Given the description of an element on the screen output the (x, y) to click on. 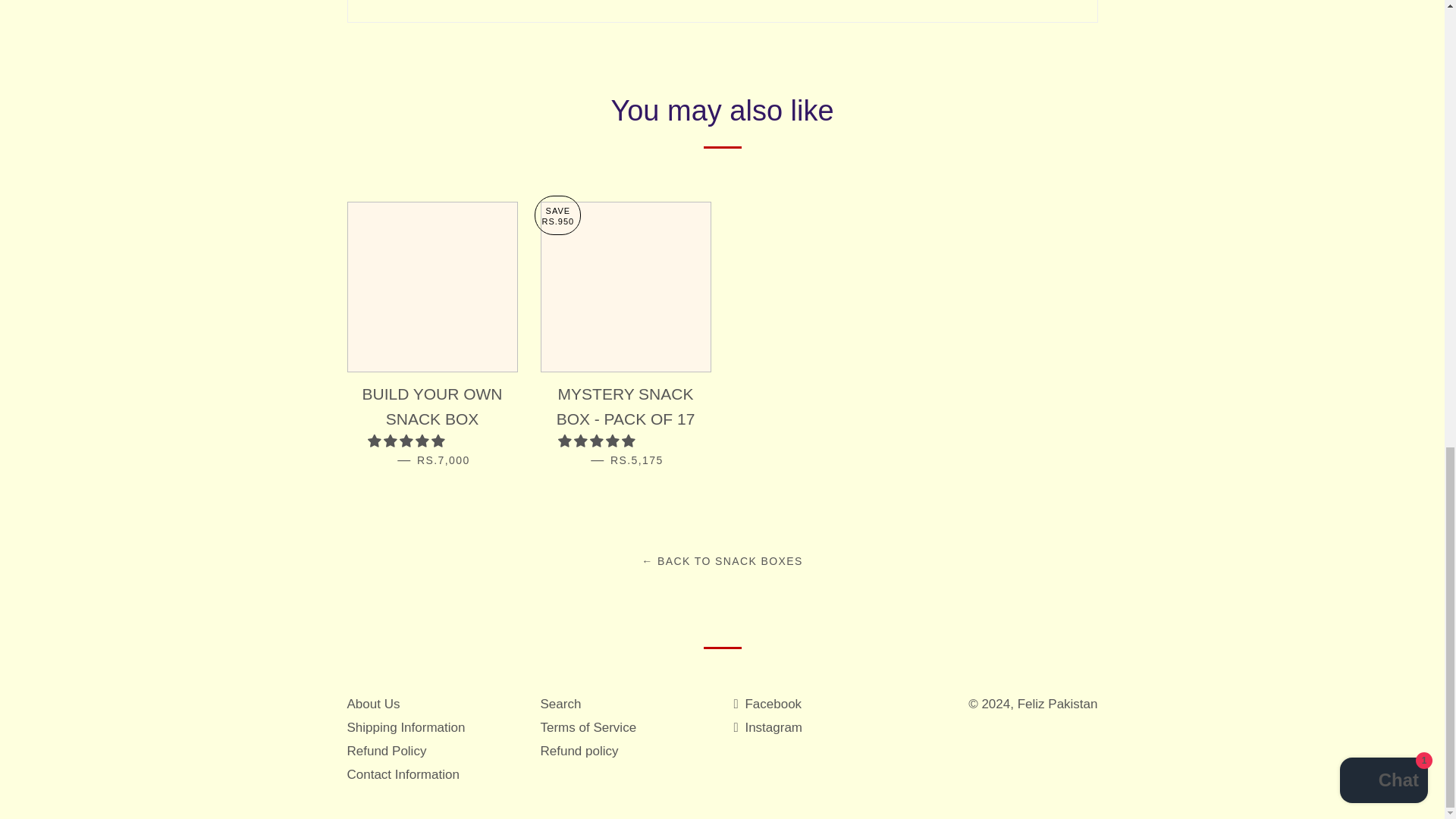
Refund Policy (386, 750)
Contact Information (403, 774)
Feliz Pakistan on Instagram (768, 727)
Shipping Information (406, 727)
Feliz Pakistan on Facebook (767, 703)
About Us (373, 703)
